Given the description of an element on the screen output the (x, y) to click on. 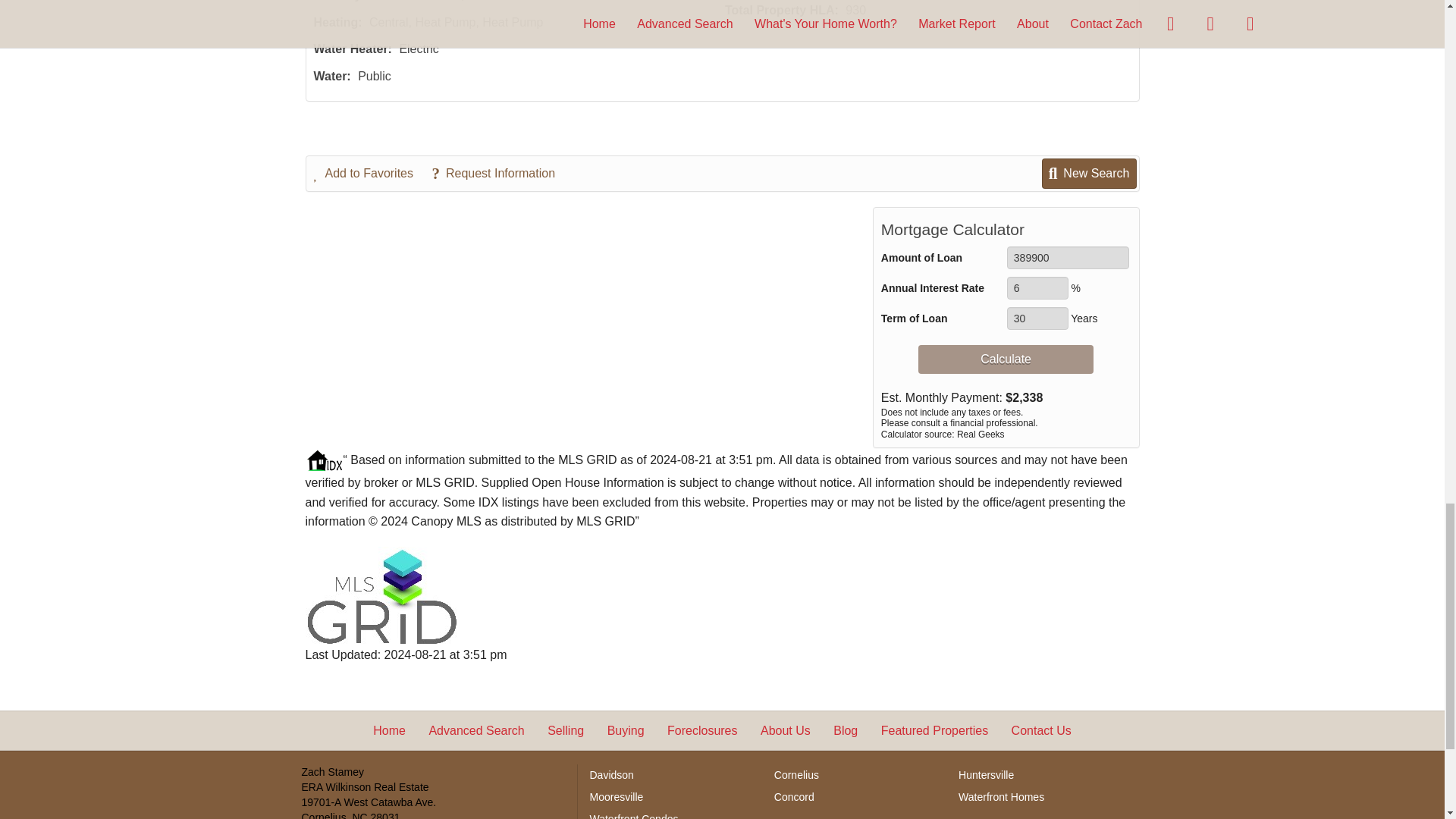
389900 (1068, 257)
6 (1037, 287)
30 (1037, 318)
